Given the description of an element on the screen output the (x, y) to click on. 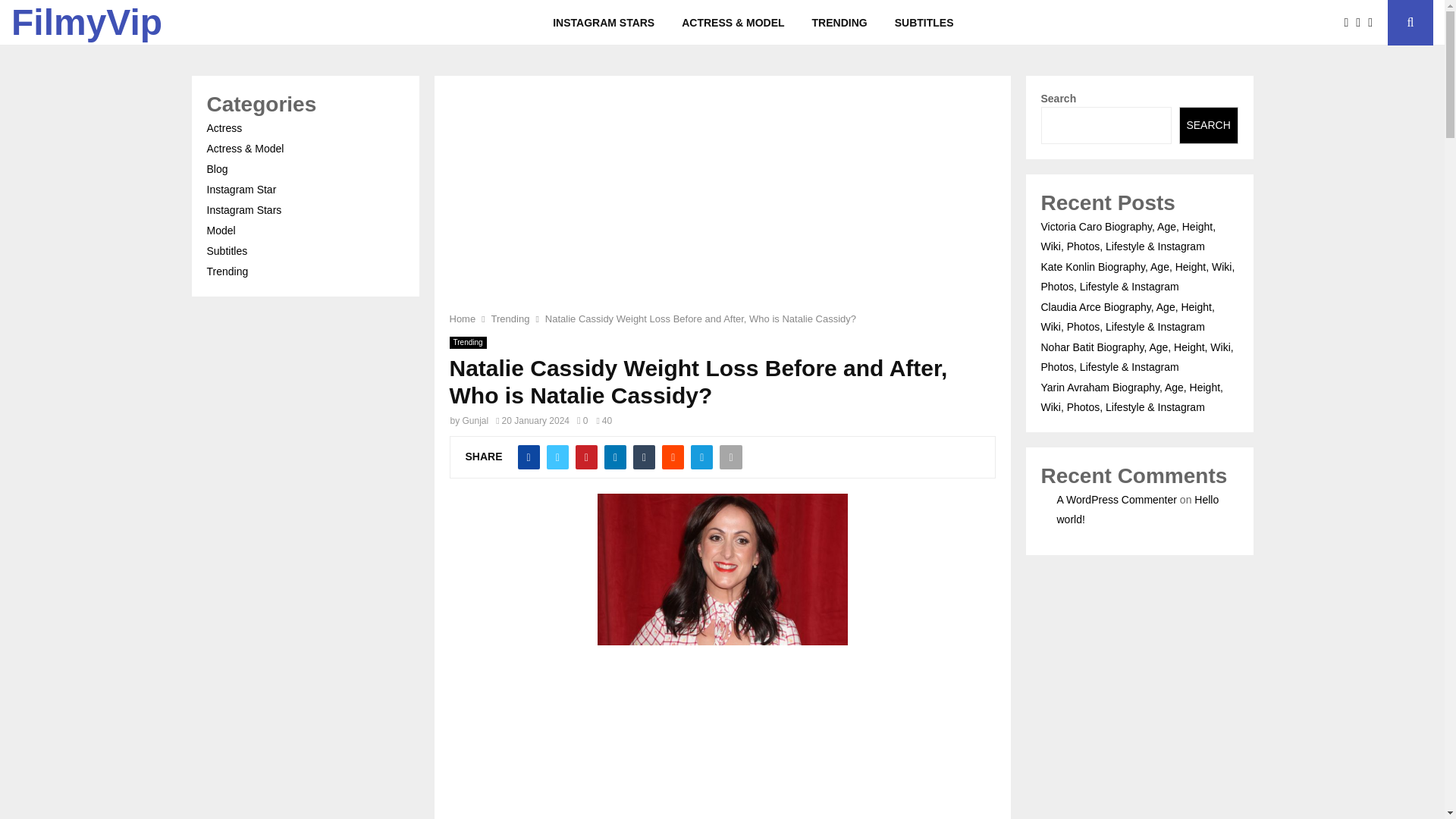
Trending (510, 318)
Gunjal (476, 420)
0 (582, 420)
Advertisement (721, 739)
FilmyVip (86, 22)
INSTAGRAM STARS (603, 22)
Home (462, 318)
TRENDING (838, 22)
SUBTITLES (924, 22)
Advertisement (721, 203)
Trending (467, 342)
